Given the description of an element on the screen output the (x, y) to click on. 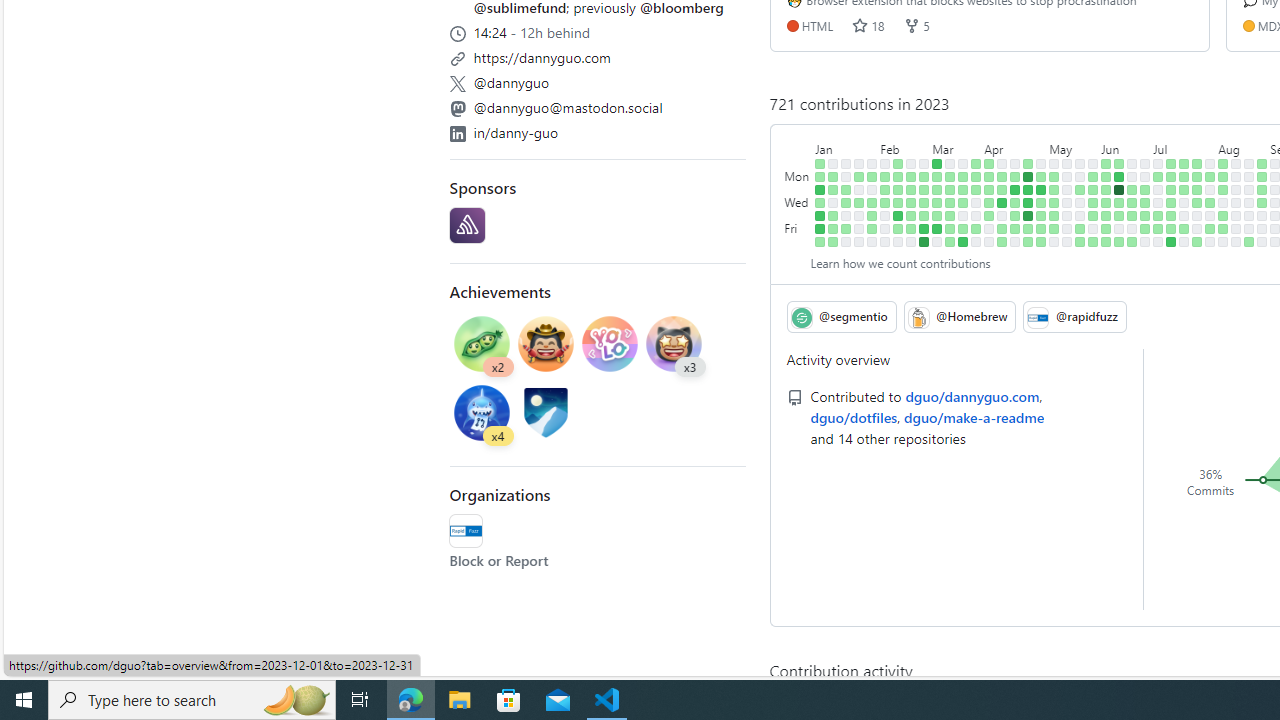
5 contributions on March 18th. (950, 241)
in/danny-guo (516, 132)
No contributions on May 16th. (1067, 189)
17 contributions on April 25th. (1028, 189)
No contributions on July 4th. (1158, 189)
1 contribution on March 14th. (950, 189)
Achievement: Quickdraw (545, 343)
1 contribution on August 6th. (1223, 163)
1 contribution on March 24th. (962, 228)
5 contributions on April 20th. (1015, 215)
Achievement: Arctic Code Vault Contributor (545, 415)
3 contributions on May 31st. (1093, 202)
1 contribution on August 29th. (1262, 189)
No contributions on February 18th. (898, 241)
No contributions on February 10th. (885, 228)
